Given the description of an element on the screen output the (x, y) to click on. 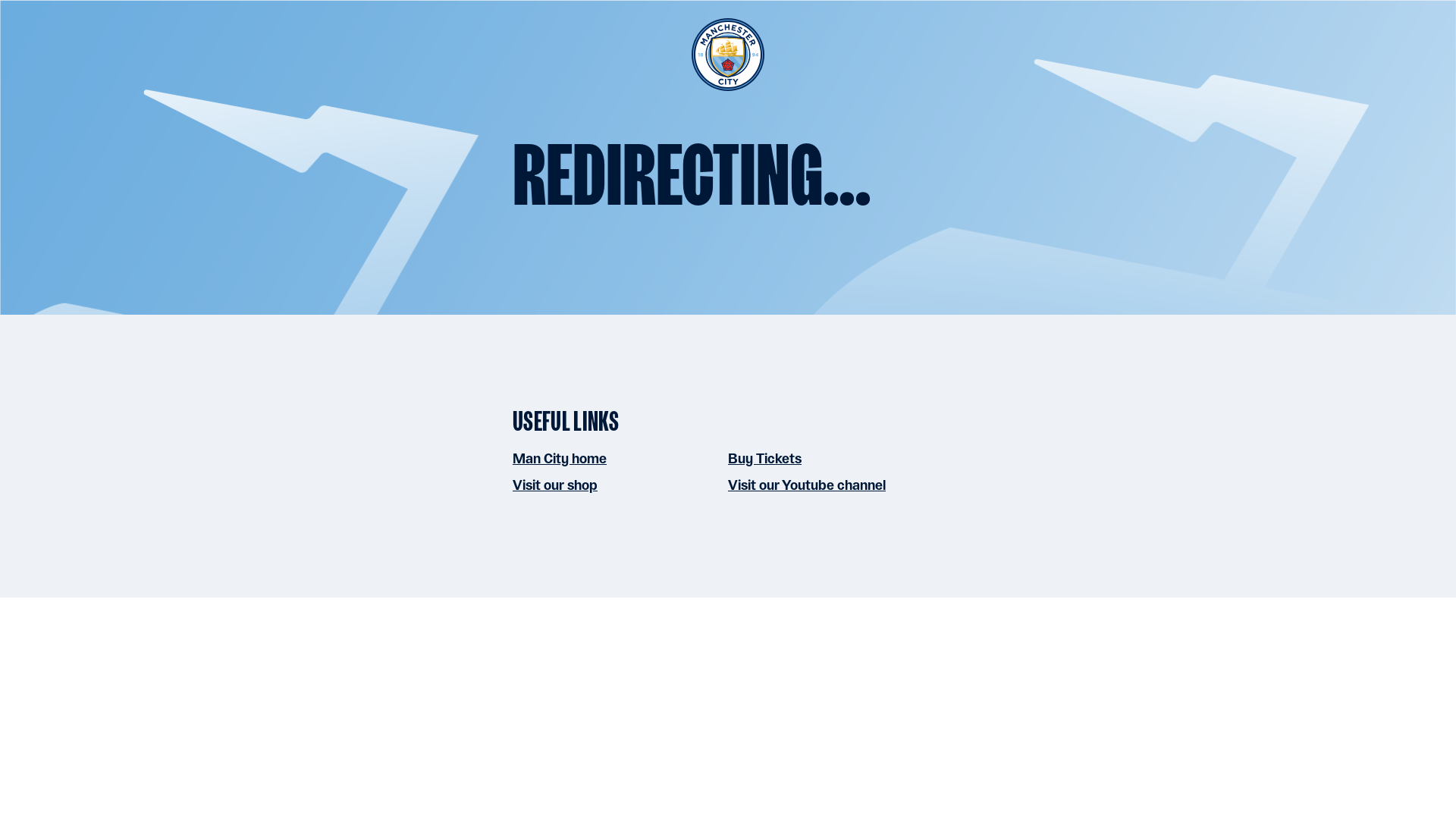
Visit our shop (554, 484)
Man City home (559, 458)
Visit our Youtube channel (806, 484)
Buy Tickets (765, 458)
